Given the description of an element on the screen output the (x, y) to click on. 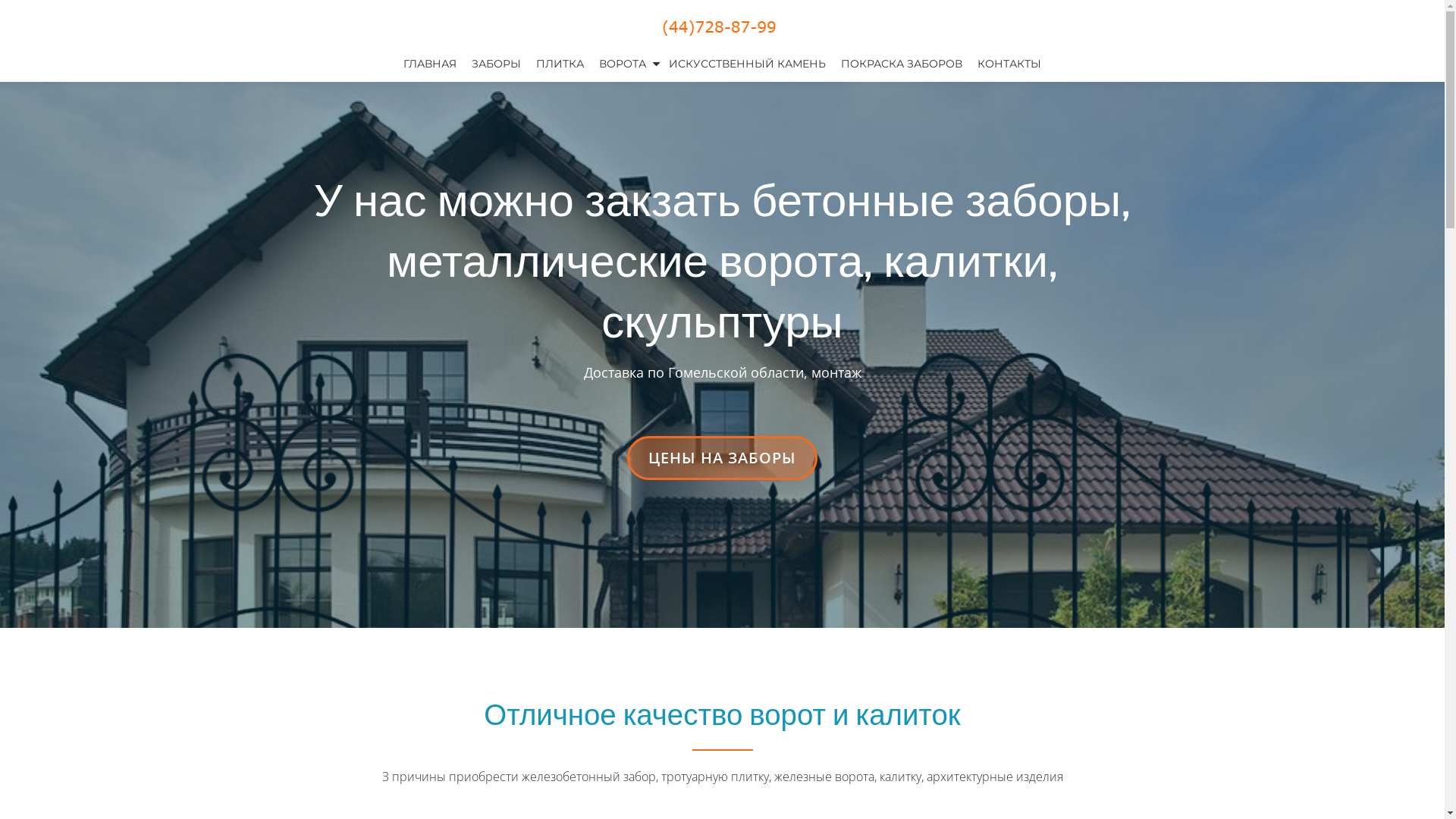
+375 (44) 728-87-99 Element type: hover (722, 26)
